Given the description of an element on the screen output the (x, y) to click on. 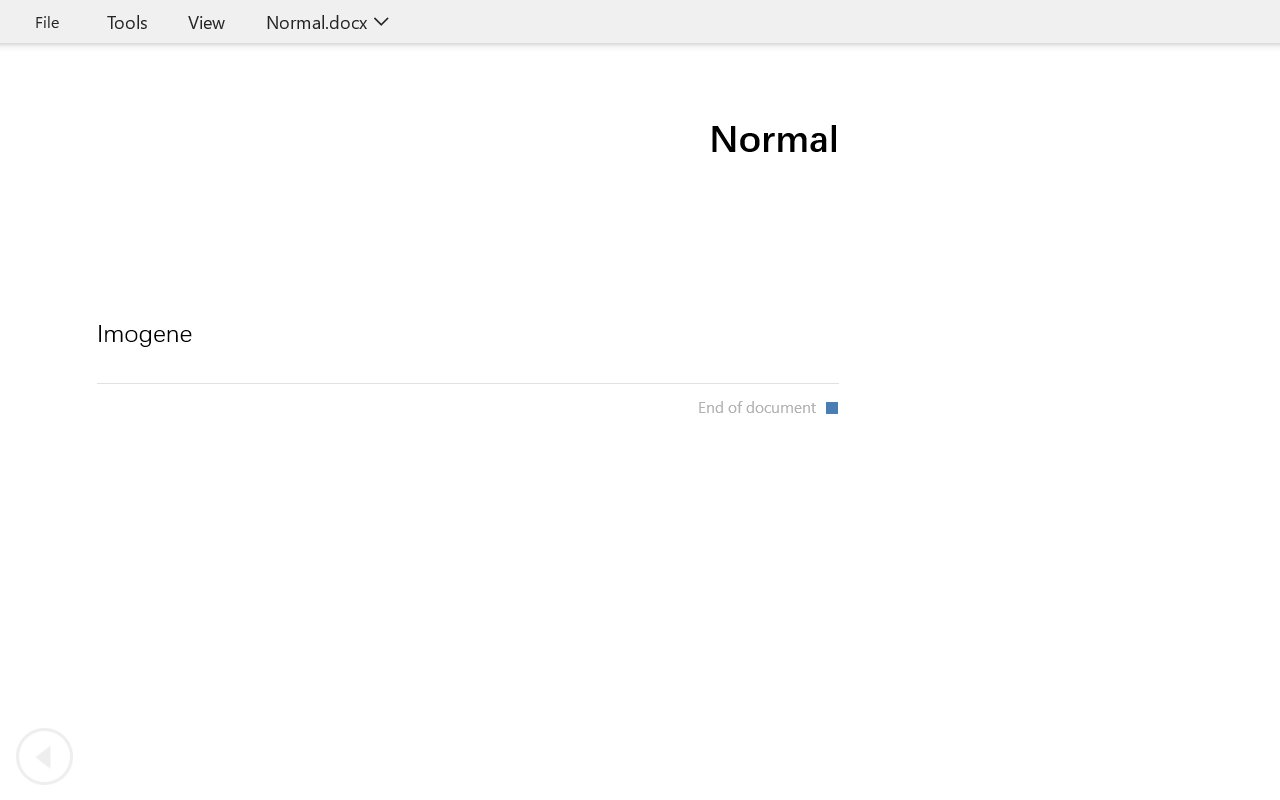
Tools (127, 21)
